Given the description of an element on the screen output the (x, y) to click on. 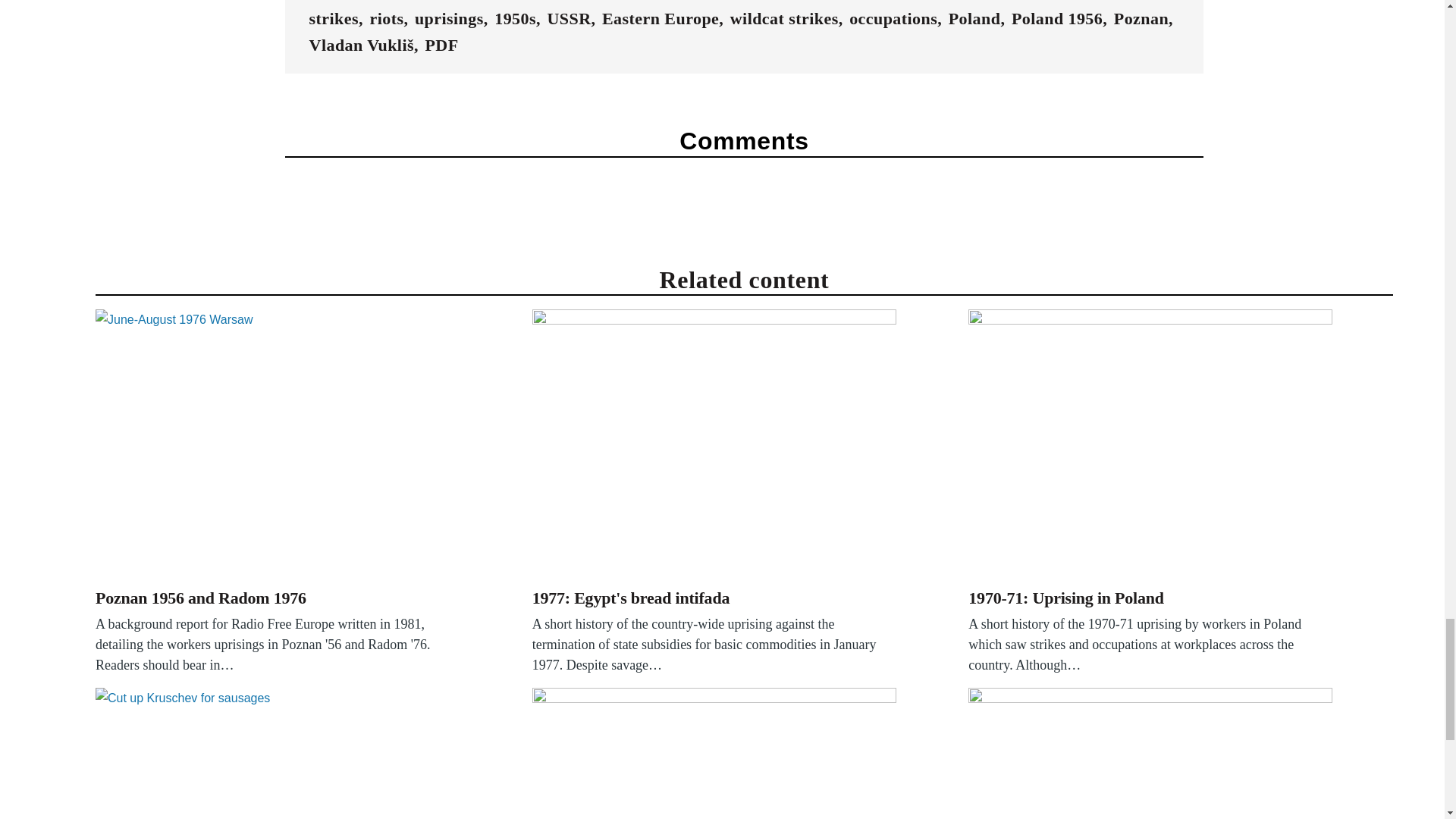
Poznan (1141, 18)
uprisings (448, 18)
strikes (333, 18)
1950s (515, 18)
wildcat strikes (784, 18)
USSR (569, 18)
Eastern Europe (660, 18)
June-August 1976 Warsaw (278, 445)
riots (386, 18)
Poland (975, 18)
